Given the description of an element on the screen output the (x, y) to click on. 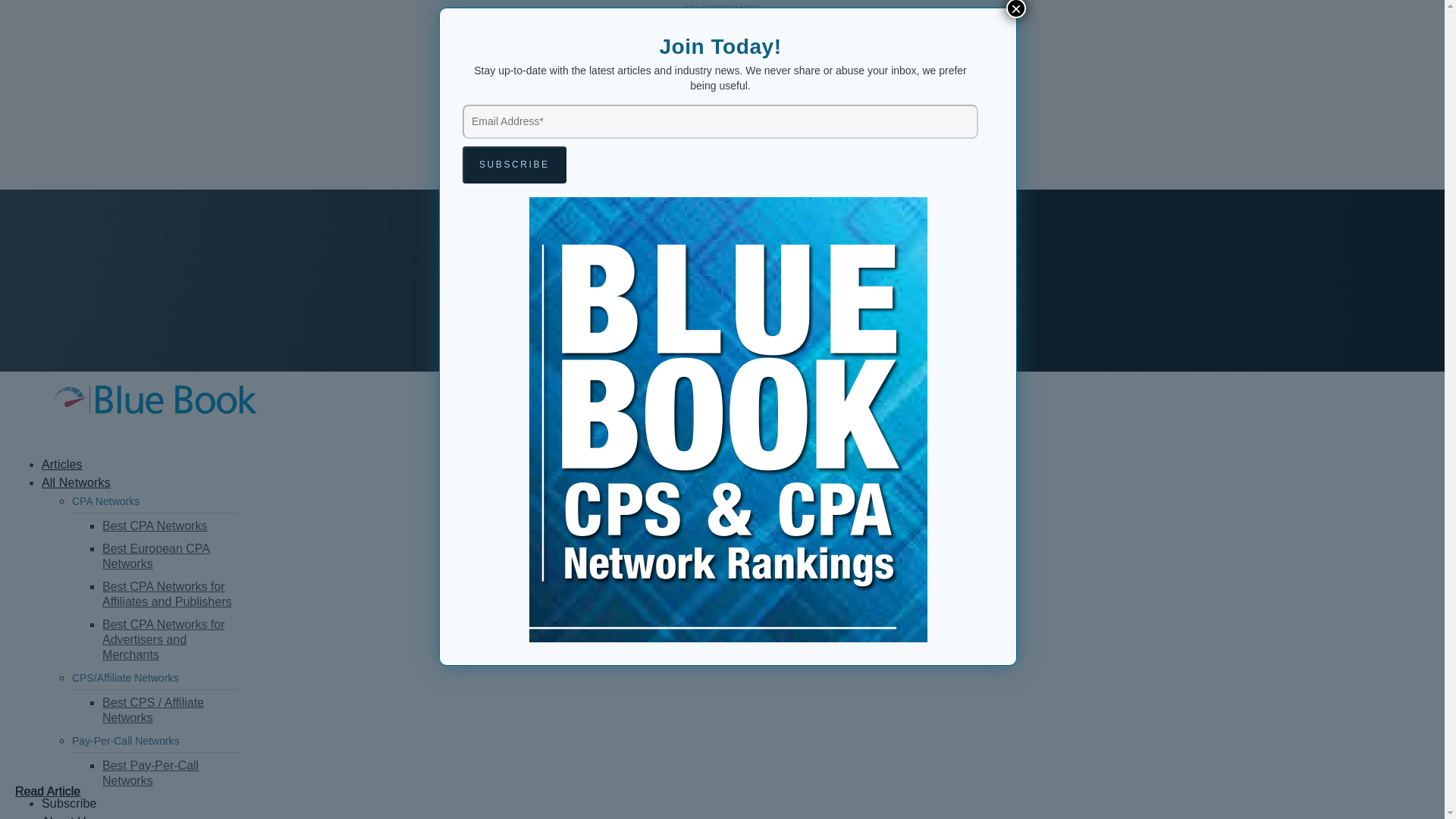
Best CPA Networks (169, 527)
Best Pay-Per-Call Networks (169, 774)
Best CPA Networks for Affiliates and Publishers (169, 595)
About Us (67, 816)
CPA Networks (154, 502)
Pay-Per-Call Networks (154, 742)
All Networks (76, 481)
Best CPA Networks for Advertisers and Merchants (169, 641)
Best European CPA Networks (169, 557)
Articles (62, 463)
Subscribe (514, 164)
Subscribe (69, 802)
